Given the description of an element on the screen output the (x, y) to click on. 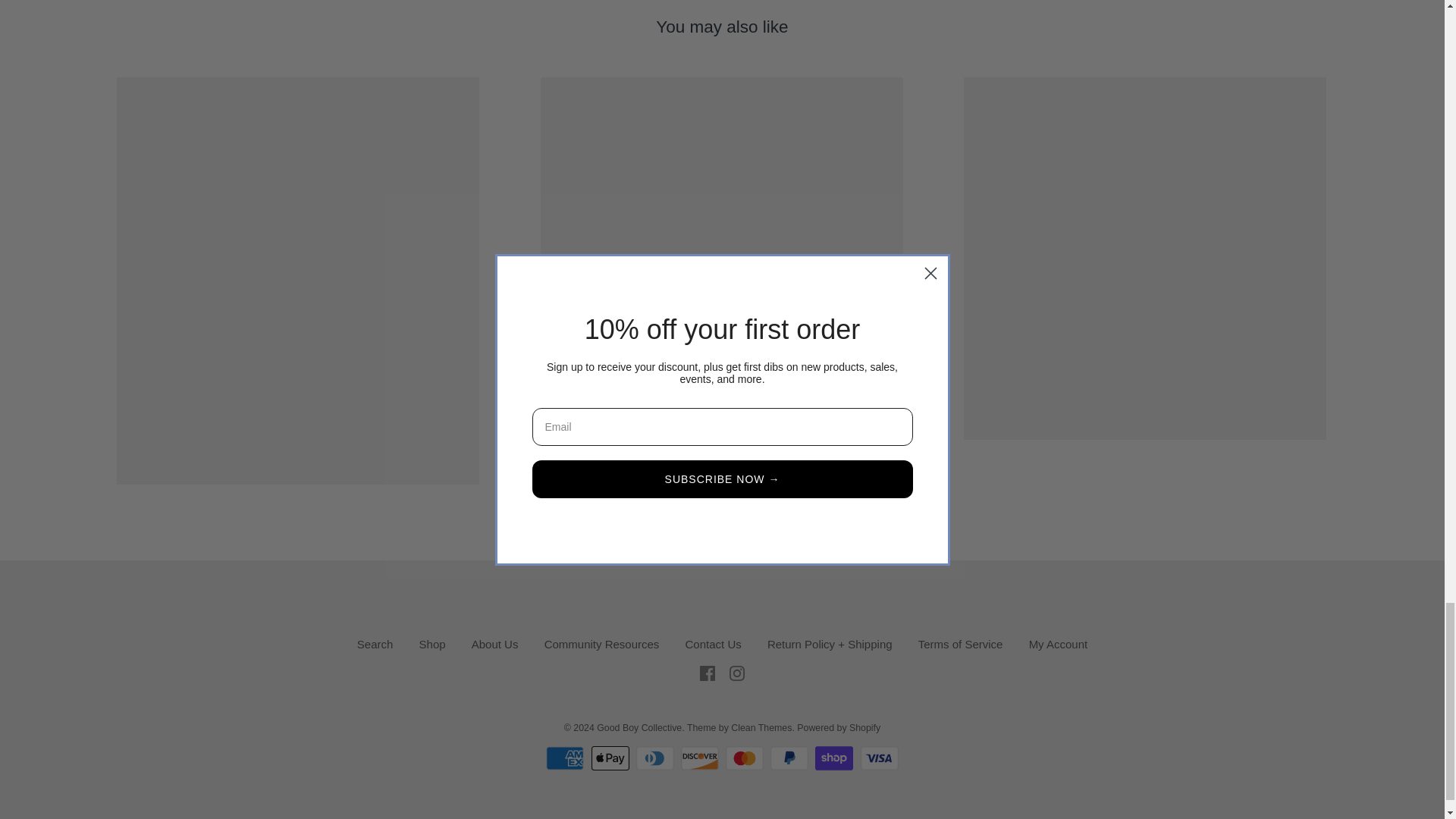
Shop Pay (834, 758)
PayPal (789, 758)
American Express (564, 758)
Instagram (736, 671)
Instagram (736, 672)
Visa (879, 758)
Discover (700, 758)
Mastercard (743, 758)
Diners Club (655, 758)
Facebook (707, 672)
Apple Pay (609, 758)
Facebook (707, 671)
